Given the description of an element on the screen output the (x, y) to click on. 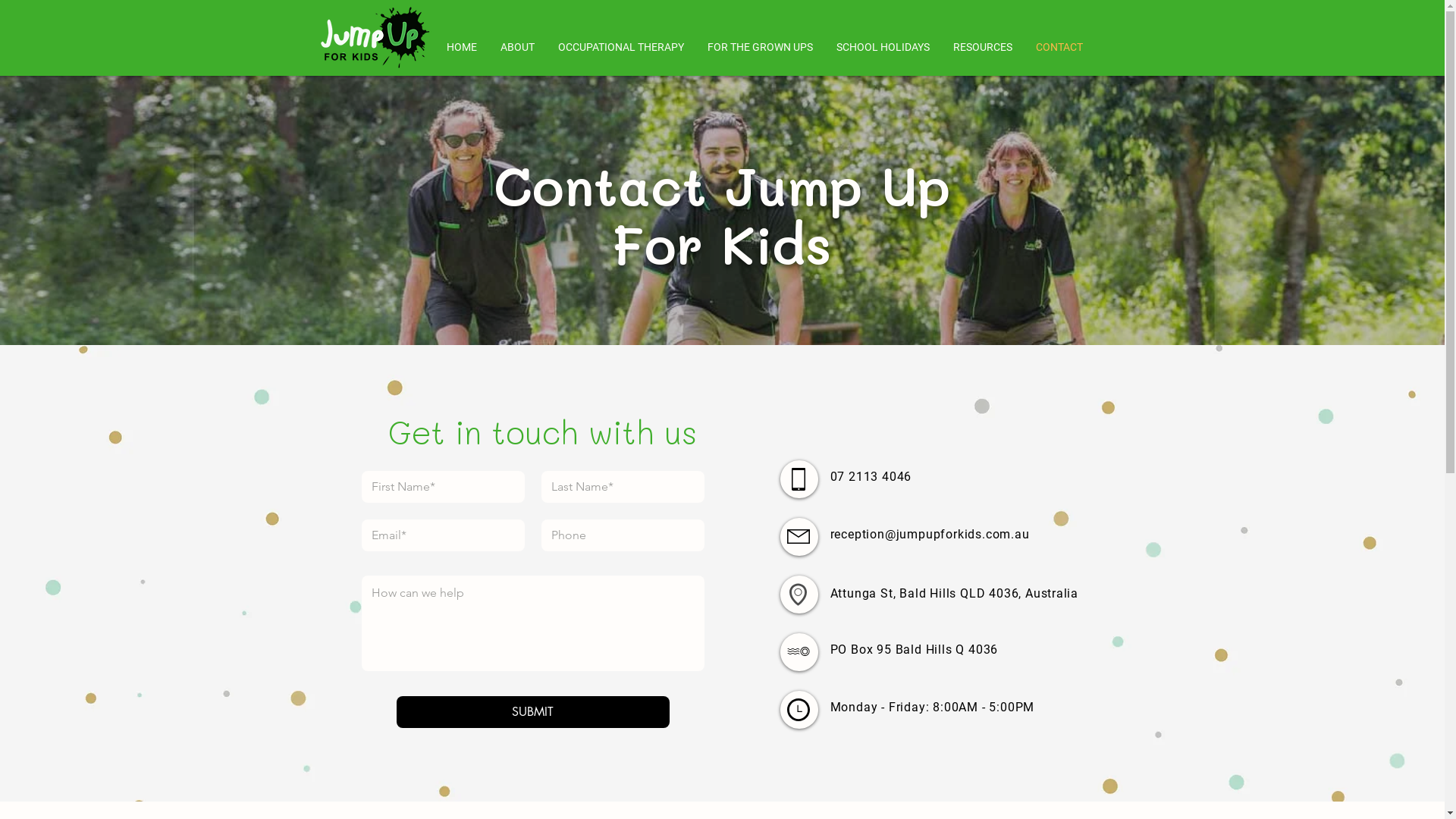
OCCUPATIONAL THERAPY Element type: text (620, 46)
RESOURCES Element type: text (982, 46)
FOR THE GROWN UPS Element type: text (760, 46)
07 2113 4046 Element type: text (870, 476)
CONTACT Element type: text (1058, 46)
Monday - Friday: 8:00AM - 5:00PM Element type: text (931, 706)
reception@jumpupforkids.com.au Element type: text (929, 534)
Attunga St, Bald Hills QLD 4036, Australia Element type: text (953, 593)
SUBMIT Element type: text (531, 712)
PO Box 95 Bald Hills Q 4036 Element type: text (913, 649)
HOME Element type: text (462, 46)
